Given the description of an element on the screen output the (x, y) to click on. 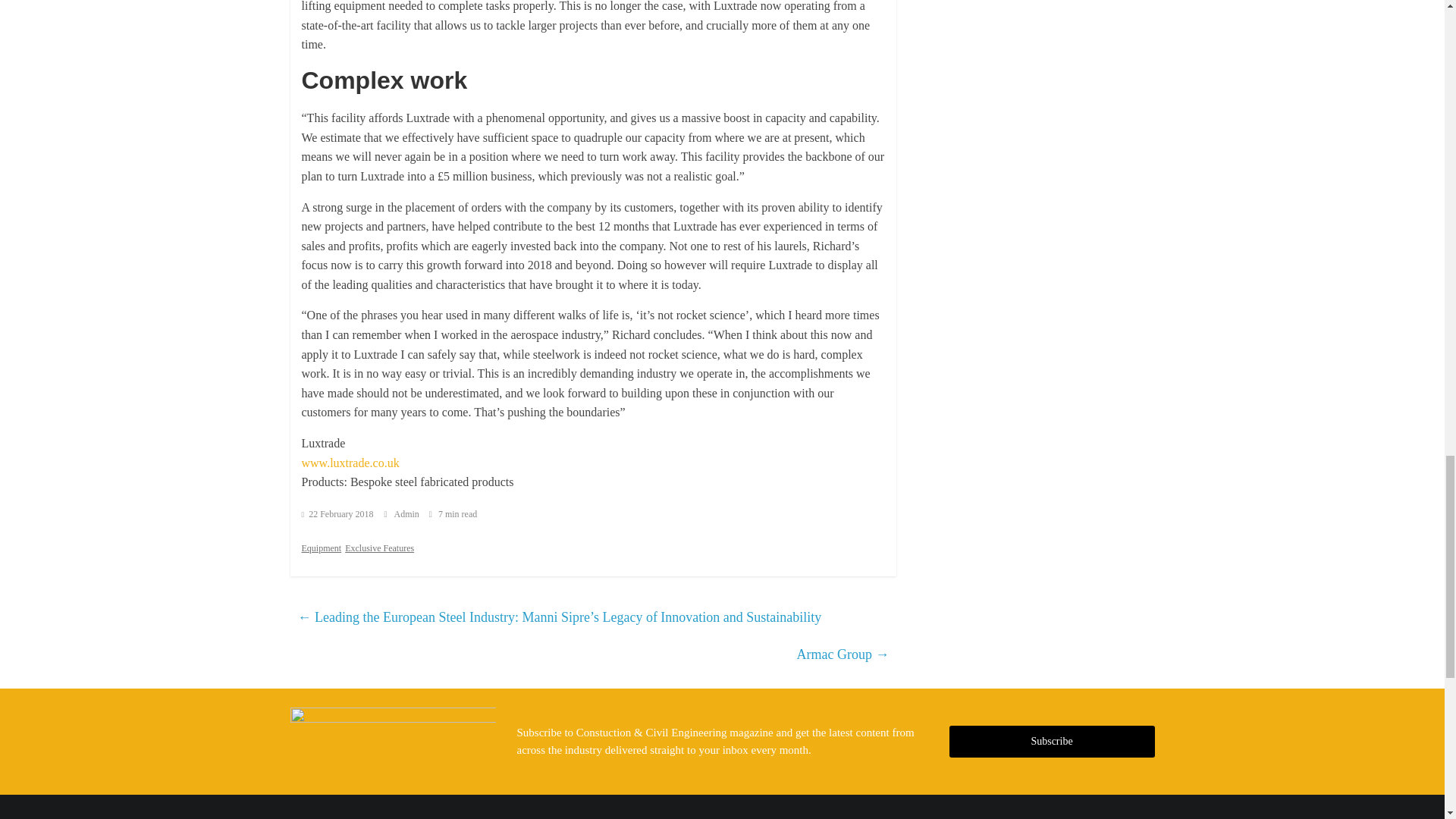
22 February 2018 (337, 513)
Admin (408, 513)
1:34 pm (337, 513)
www.luxtrade.co.uk (349, 462)
Admin (408, 513)
Equipment (321, 548)
Exclusive Features (379, 548)
